Given the description of an element on the screen output the (x, y) to click on. 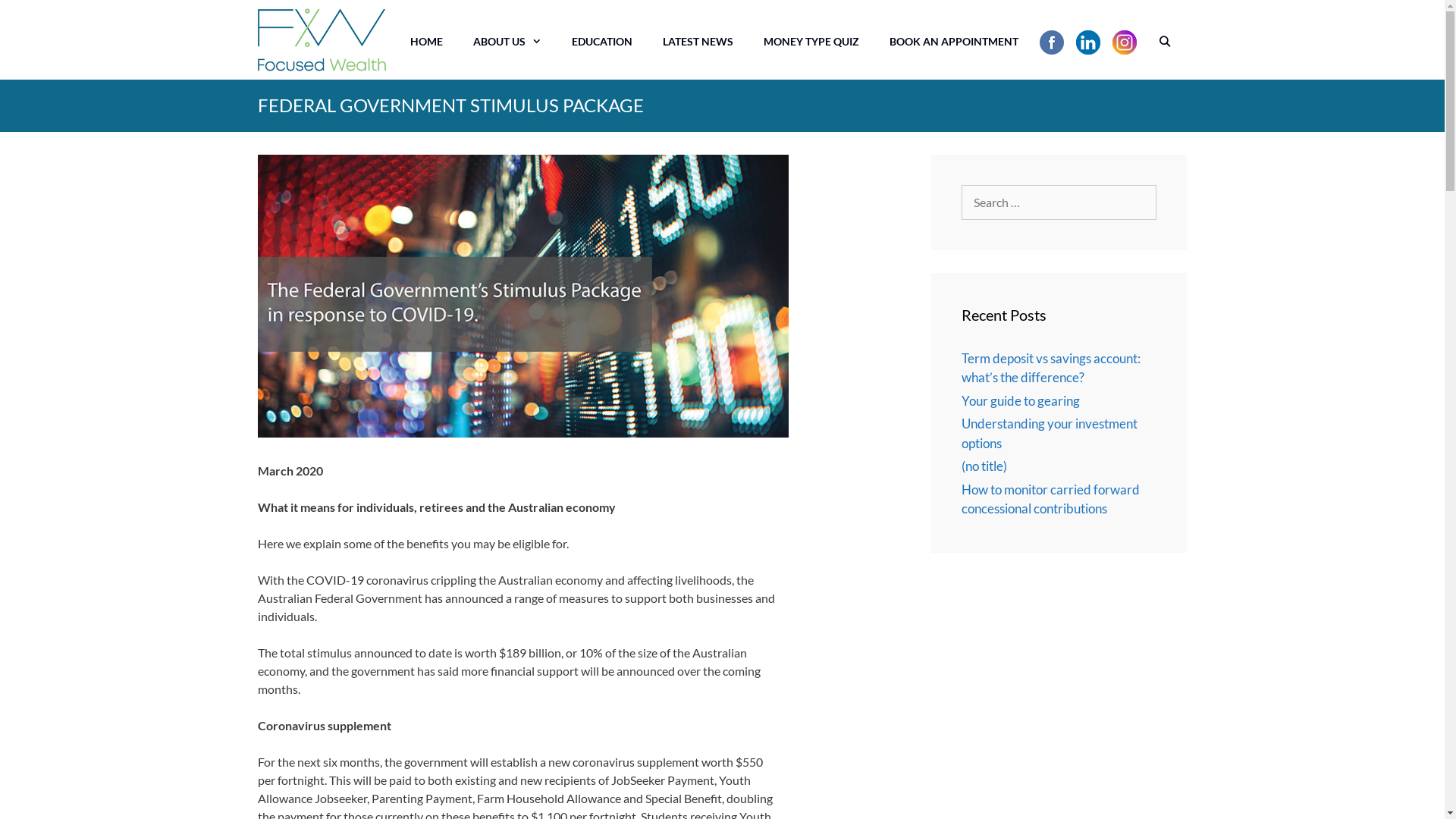
ABOUT US Element type: text (507, 41)
HOME Element type: text (426, 41)
MONEY TYPE QUIZ Element type: text (811, 41)
Search Element type: text (36, 28)
Search for: Element type: hover (1059, 202)
EDUCATION Element type: text (601, 41)
BOOK AN APPOINTMENT Element type: text (953, 41)
LATEST NEWS Element type: text (697, 41)
Your guide to gearing Element type: text (1020, 400)
Understanding your investment options Element type: text (1049, 433)
(no title) Element type: text (984, 465)
How to monitor carried forward concessional contributions Element type: text (1050, 499)
